Given the description of an element on the screen output the (x, y) to click on. 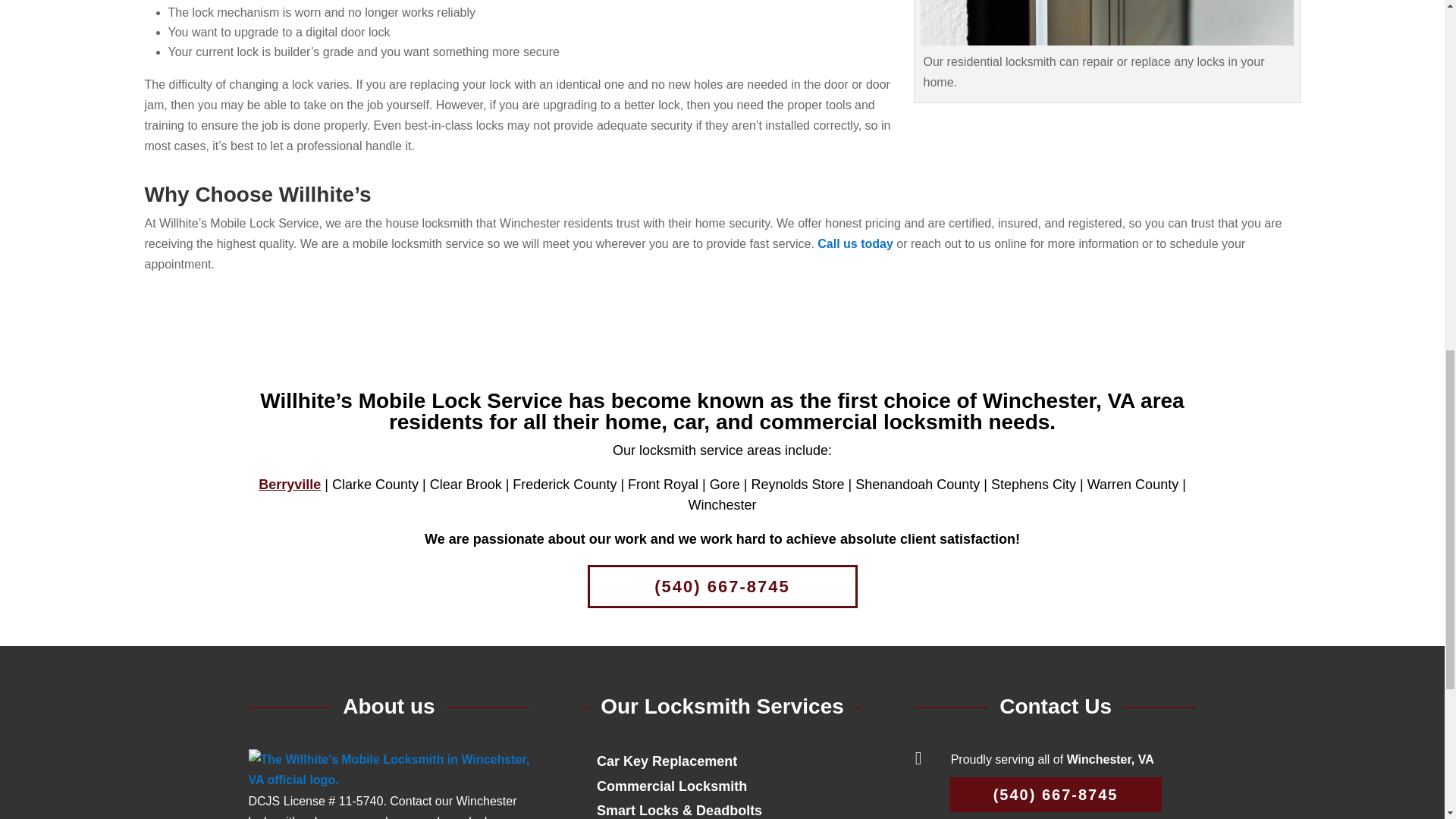
Car Key Replacement (666, 761)
Commercial Locksmith (671, 785)
Berryville (289, 484)
Call us today (854, 243)
